Given the description of an element on the screen output the (x, y) to click on. 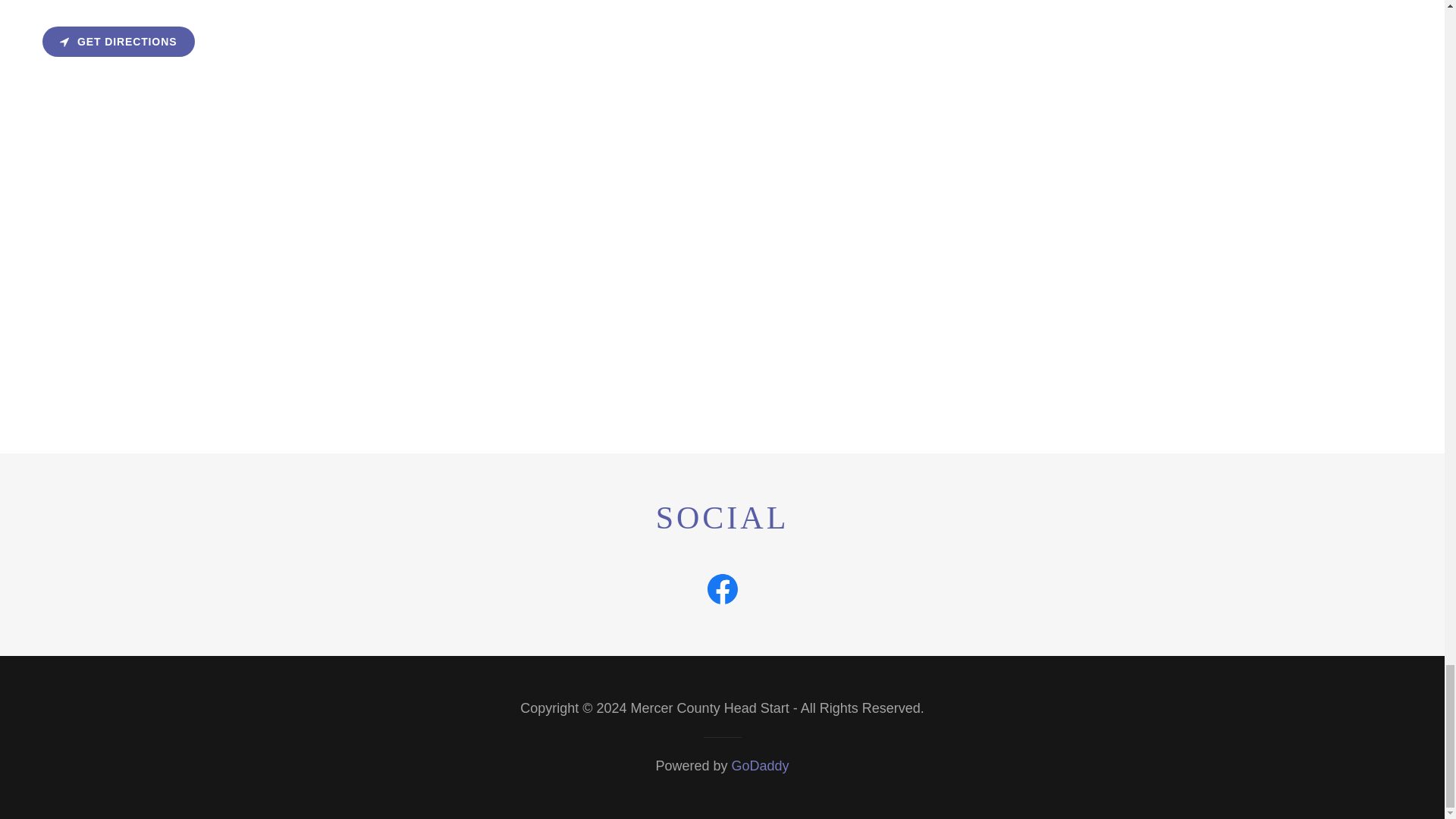
GET DIRECTIONS (118, 41)
GoDaddy (759, 765)
